Given the description of an element on the screen output the (x, y) to click on. 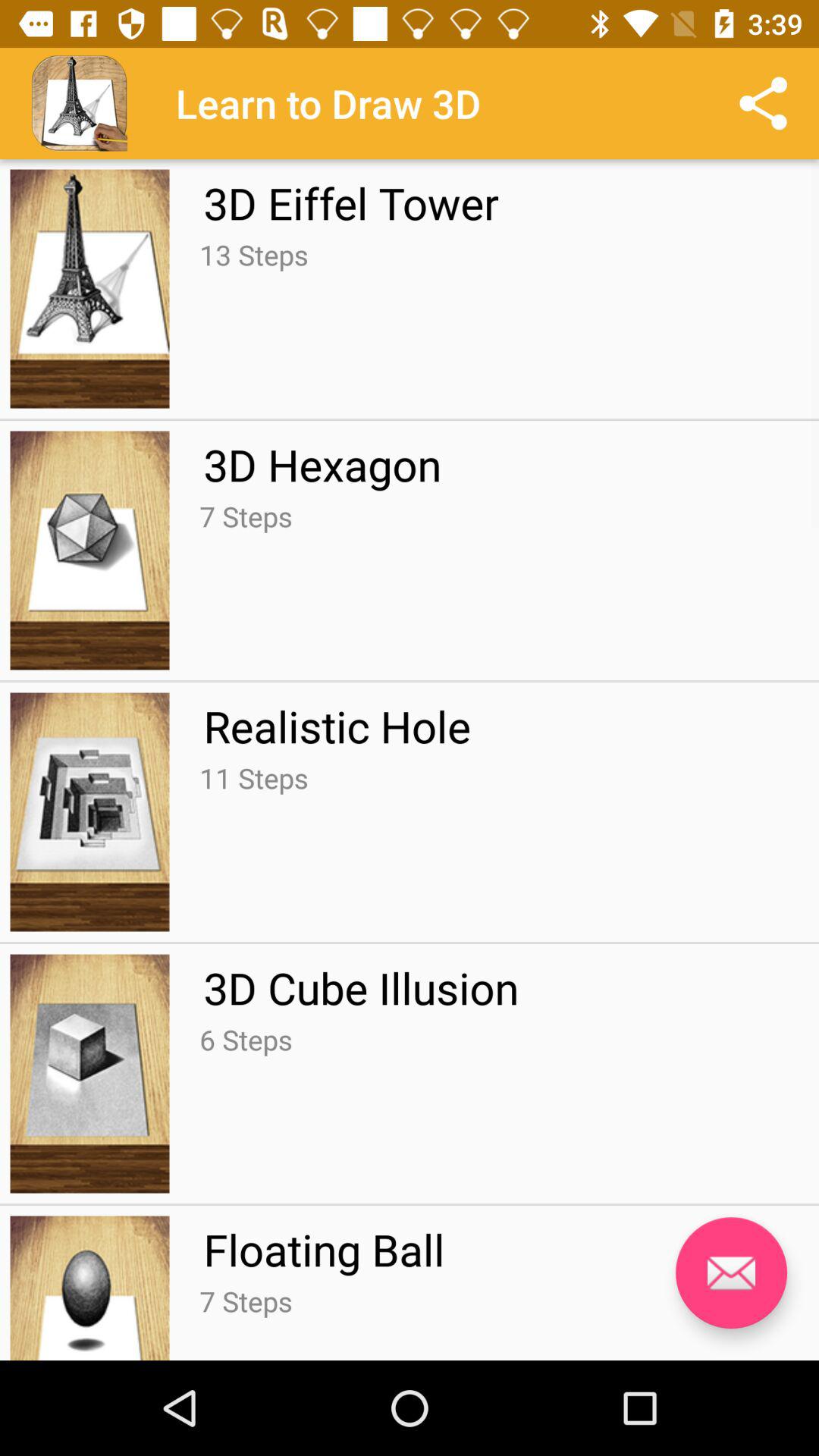
scroll until the floating ball (323, 1248)
